Given the description of an element on the screen output the (x, y) to click on. 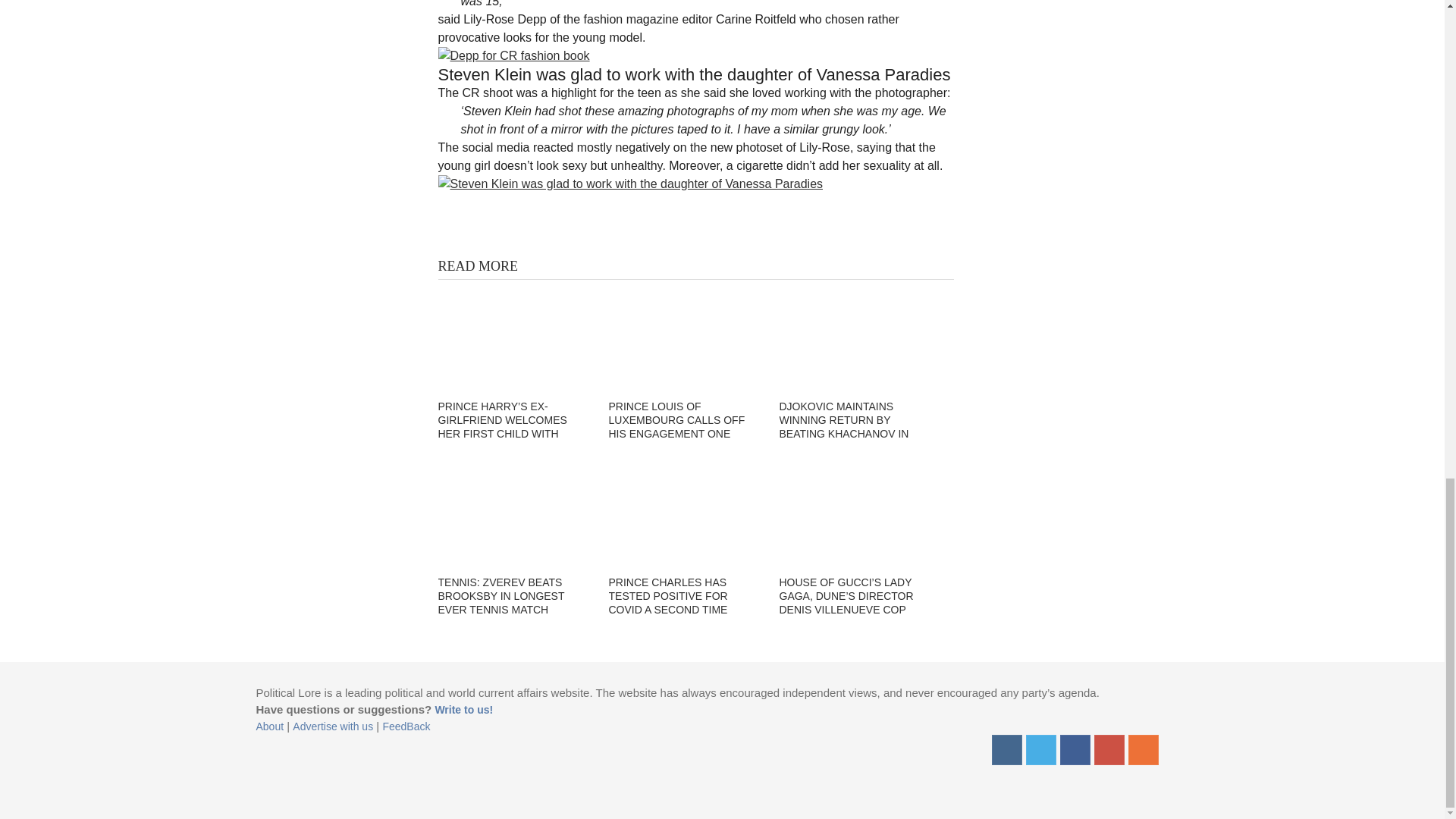
Twitter (1040, 749)
Facebook (1074, 749)
Tennis: Zverev beats Brooksby in longest ever tennis match (513, 513)
Prince Charles has tested positive for COVID a second time (684, 513)
